Given the description of an element on the screen output the (x, y) to click on. 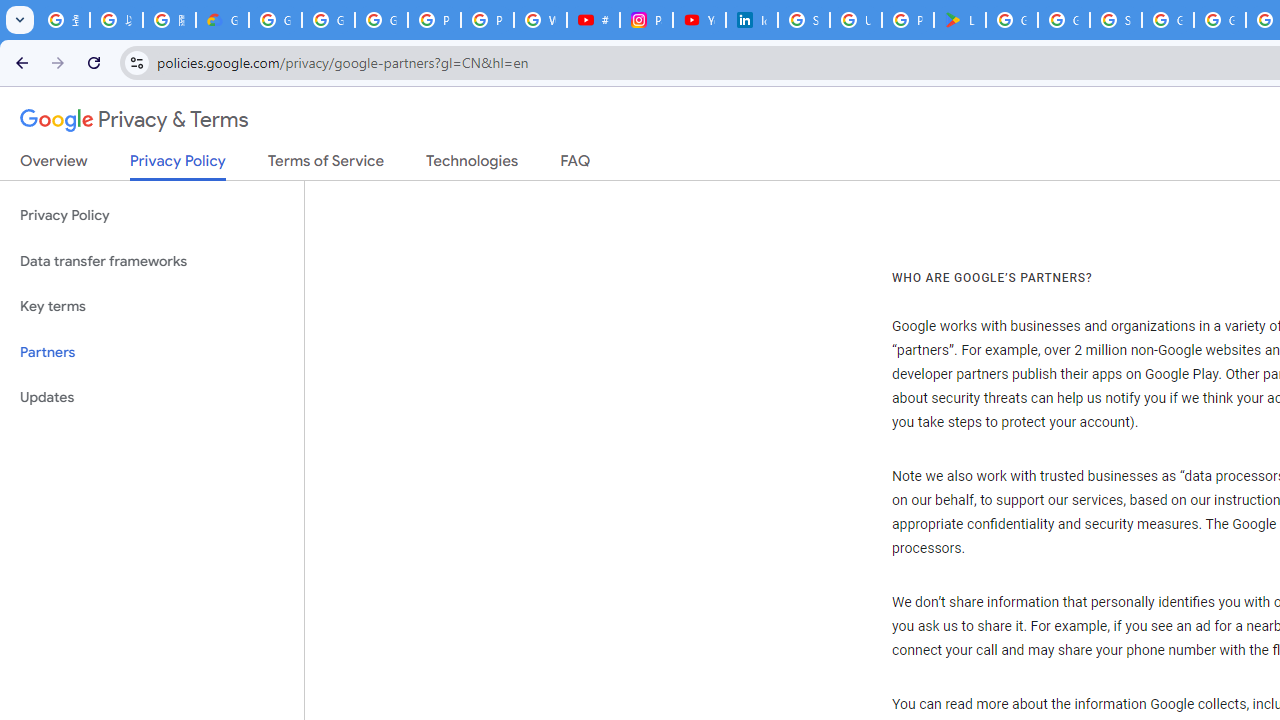
Sign in - Google Accounts (803, 20)
Privacy Help Center - Policies Help (487, 20)
Data transfer frameworks (152, 261)
YouTube Culture & Trends - On The Rise: Handcam Videos (699, 20)
